Given the description of an element on the screen output the (x, y) to click on. 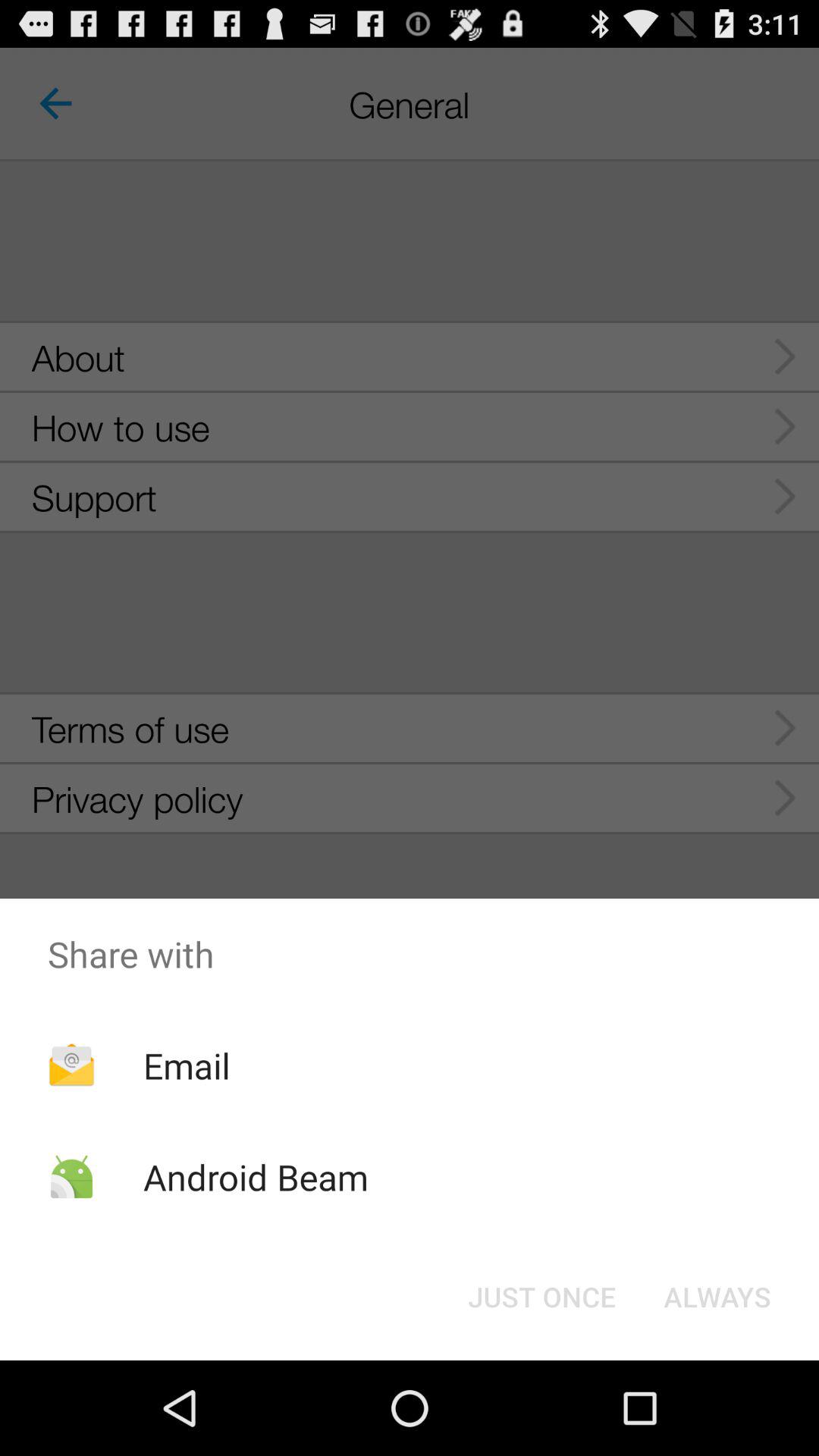
select the icon below share with item (186, 1065)
